Given the description of an element on the screen output the (x, y) to click on. 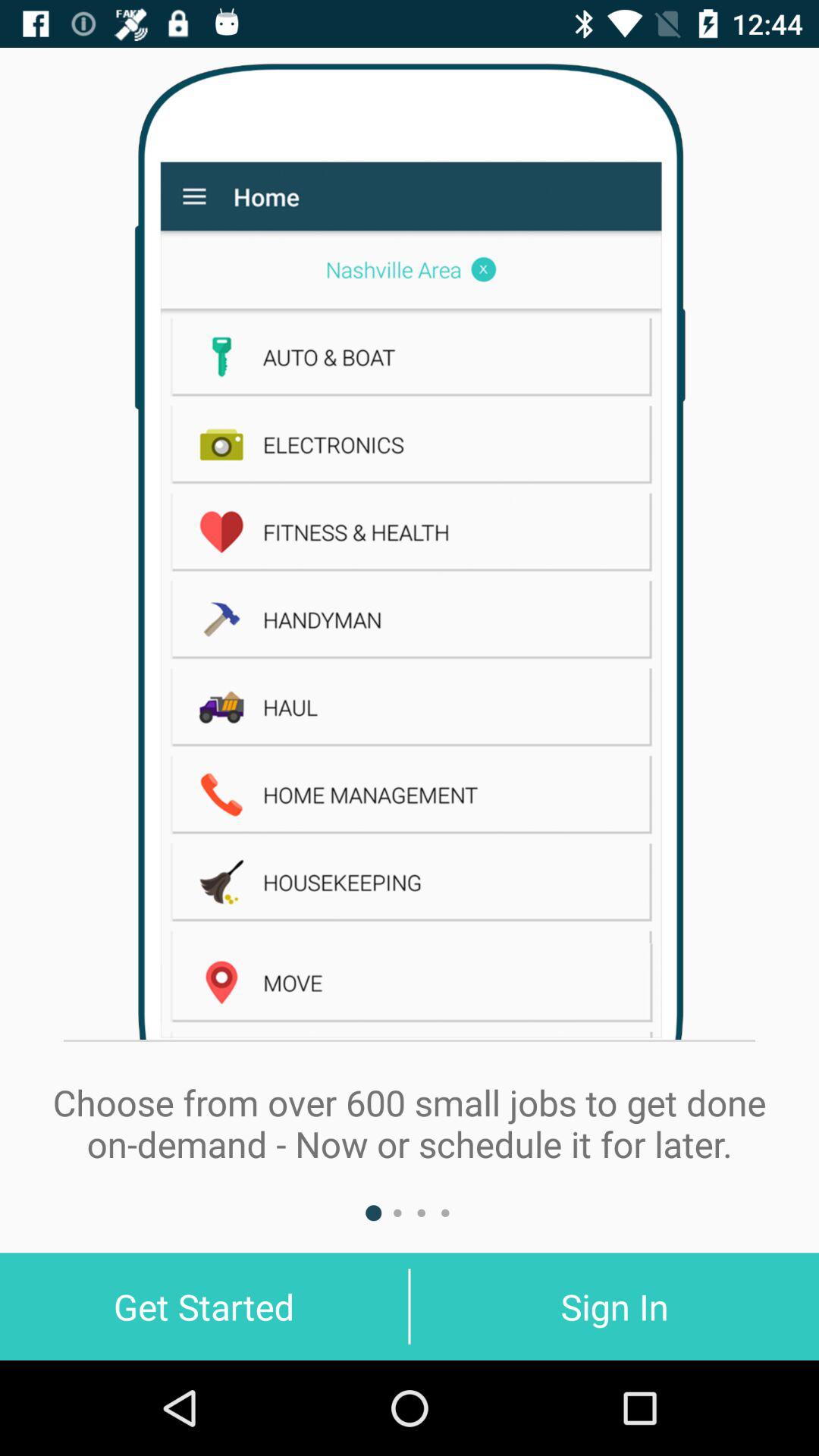
flip to the get started (204, 1306)
